Given the description of an element on the screen output the (x, y) to click on. 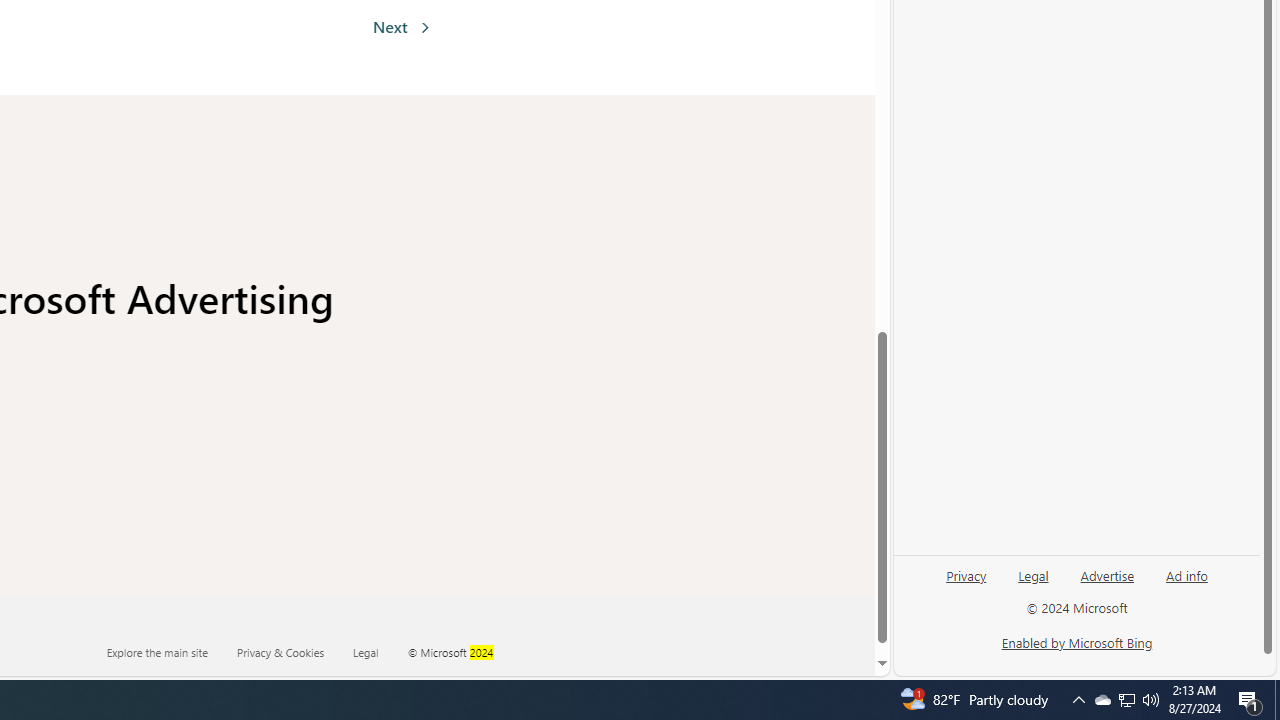
Privacy & Cookies (293, 651)
Explore the main site (157, 651)
Explore the main site (170, 651)
Privacy & Cookies (280, 651)
Next (401, 26)
